Given the description of an element on the screen output the (x, y) to click on. 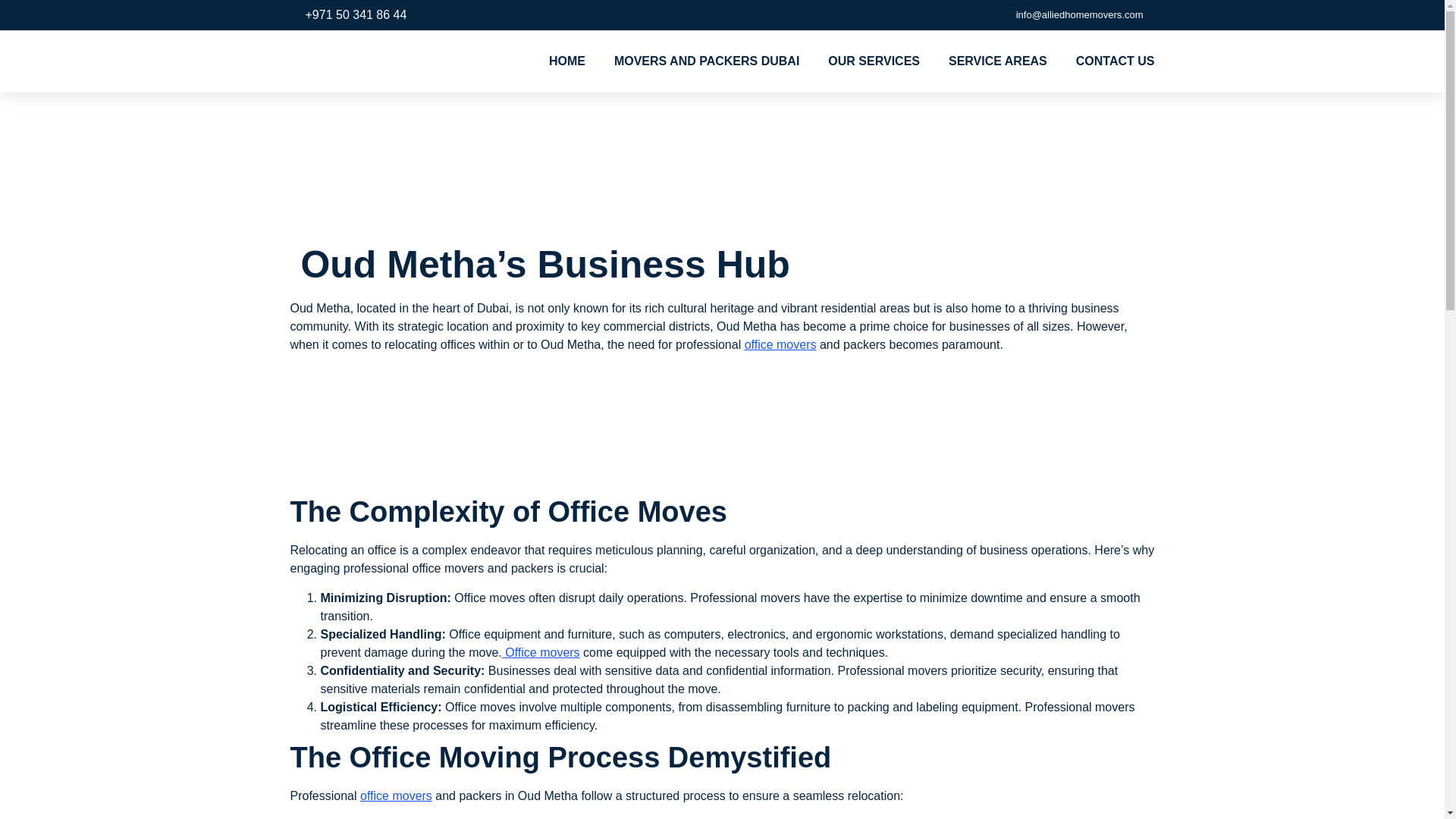
MOVERS AND PACKERS DUBAI (706, 61)
SERVICE AREAS (997, 61)
Office movers (540, 652)
office movers (395, 795)
OUR SERVICES (874, 61)
CONTACT US (1114, 61)
HOME (566, 61)
office movers (780, 344)
